Given the description of an element on the screen output the (x, y) to click on. 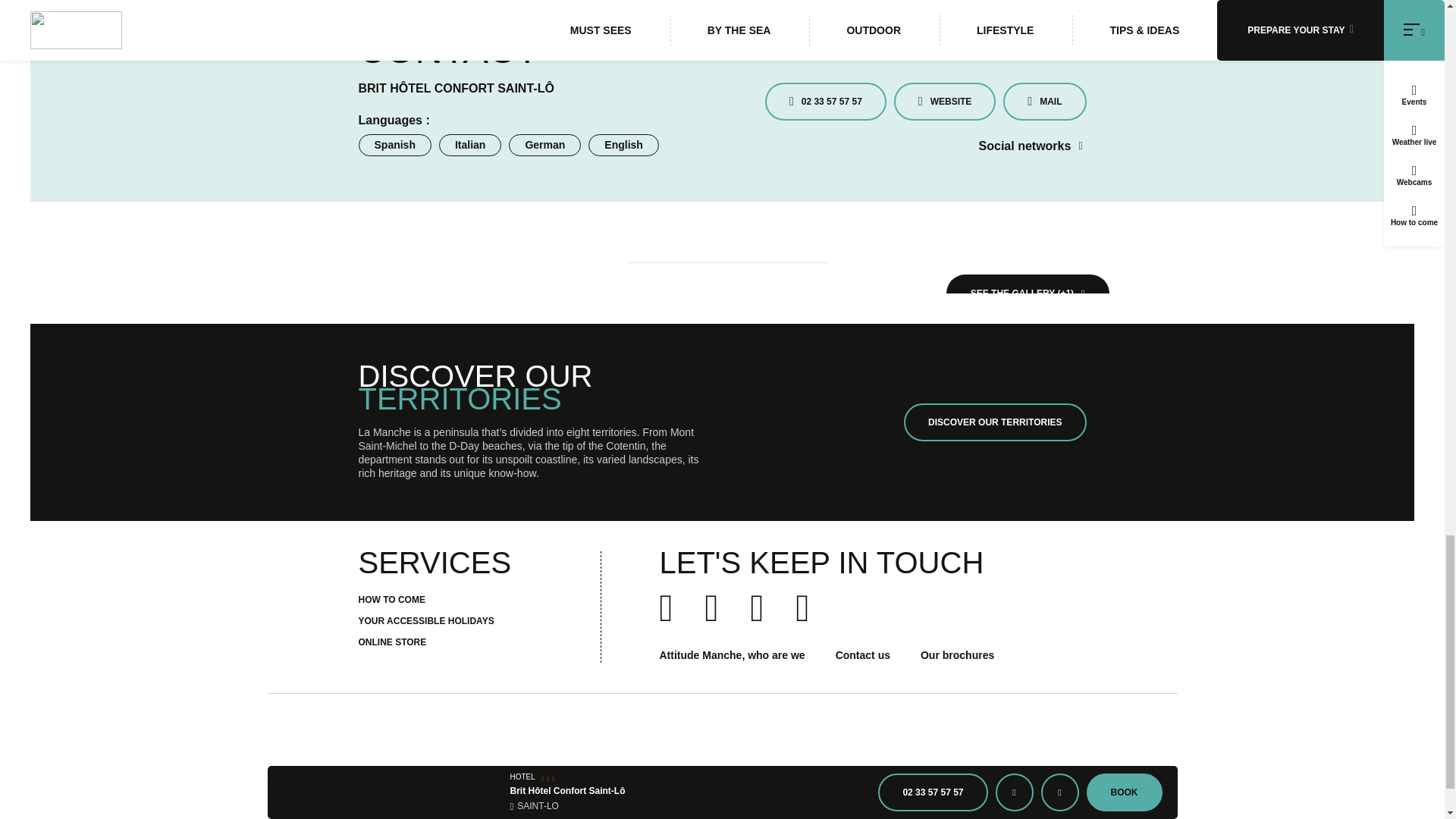
Facebook - new window (1080, 145)
WEBSITE (944, 101)
MAIL (1044, 101)
Facebook - new window (1080, 145)
02 33 57 57 57 (825, 101)
